Given the description of an element on the screen output the (x, y) to click on. 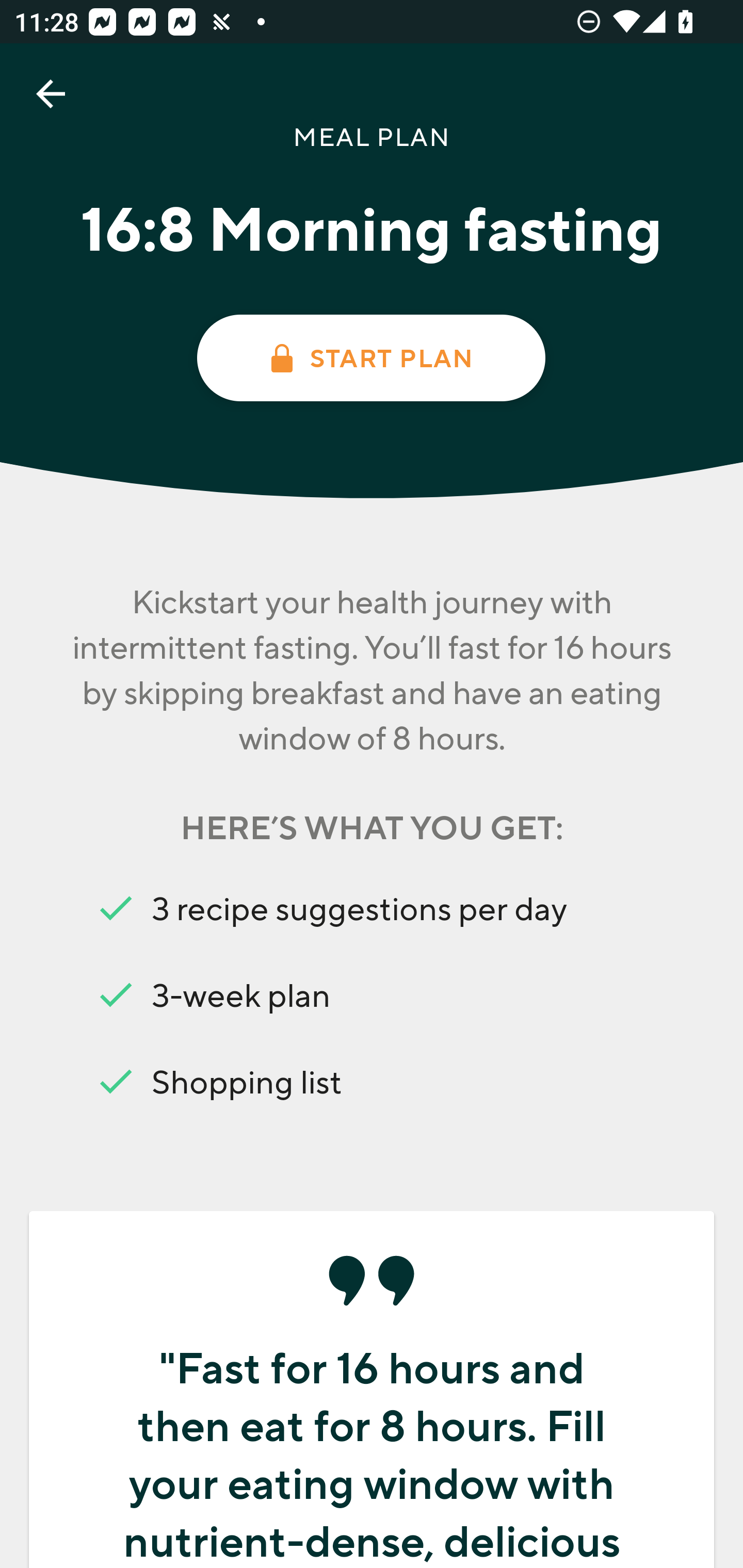
Navigate up (50, 93)
START PLAN (370, 358)
